Given the description of an element on the screen output the (x, y) to click on. 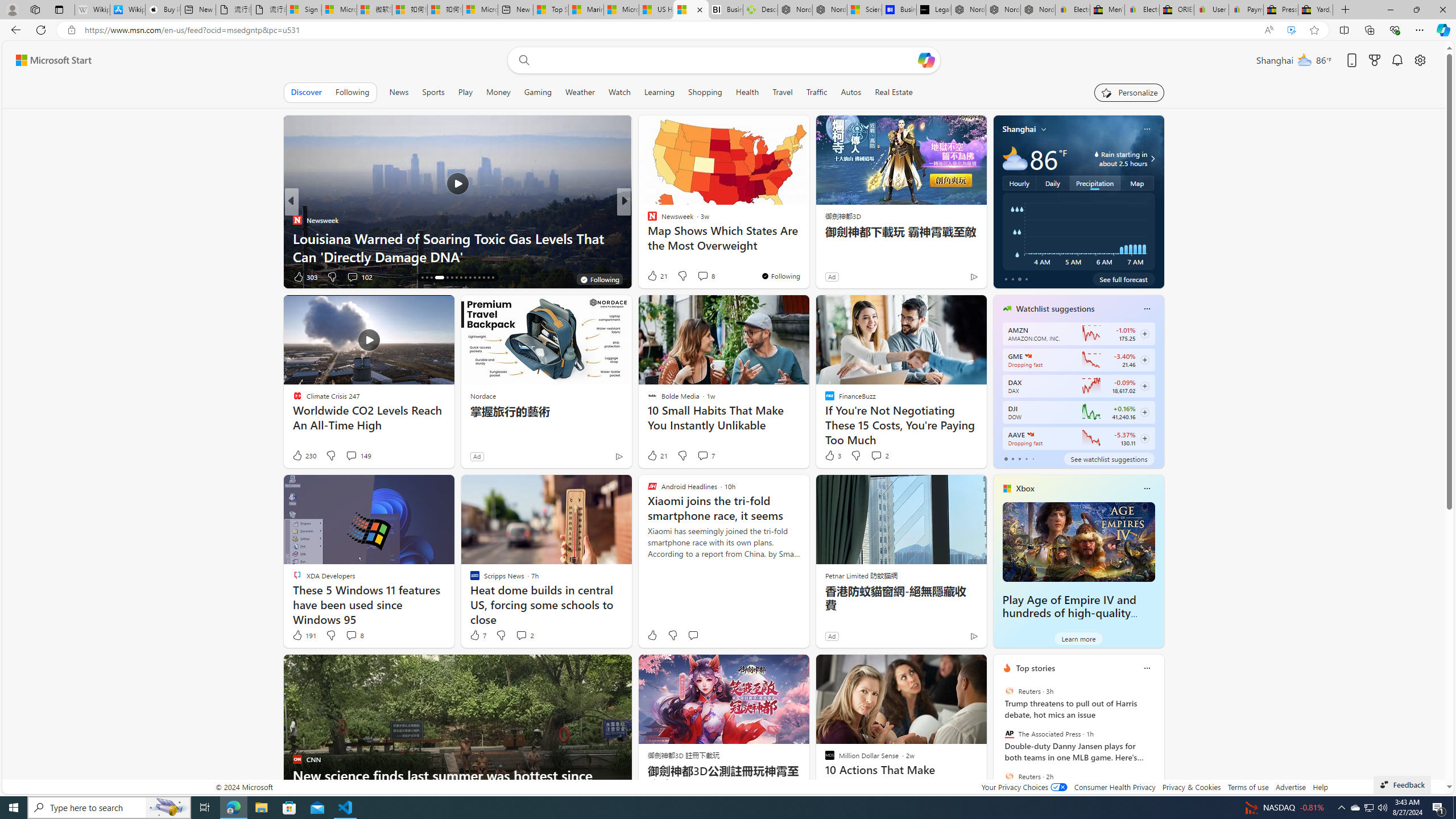
AutomationID: tab-16 (422, 277)
View comments 31 Comment (698, 276)
View comments 4 Comment (698, 276)
AutomationID: tab-19 (439, 277)
View comments 8 Comment (354, 634)
View comments 3 Comment (698, 276)
16 Like (652, 276)
AutomationID: tab-27 (478, 277)
Class: follow-button  m (1144, 438)
AutomationID: tab-22 (456, 277)
